Given the description of an element on the screen output the (x, y) to click on. 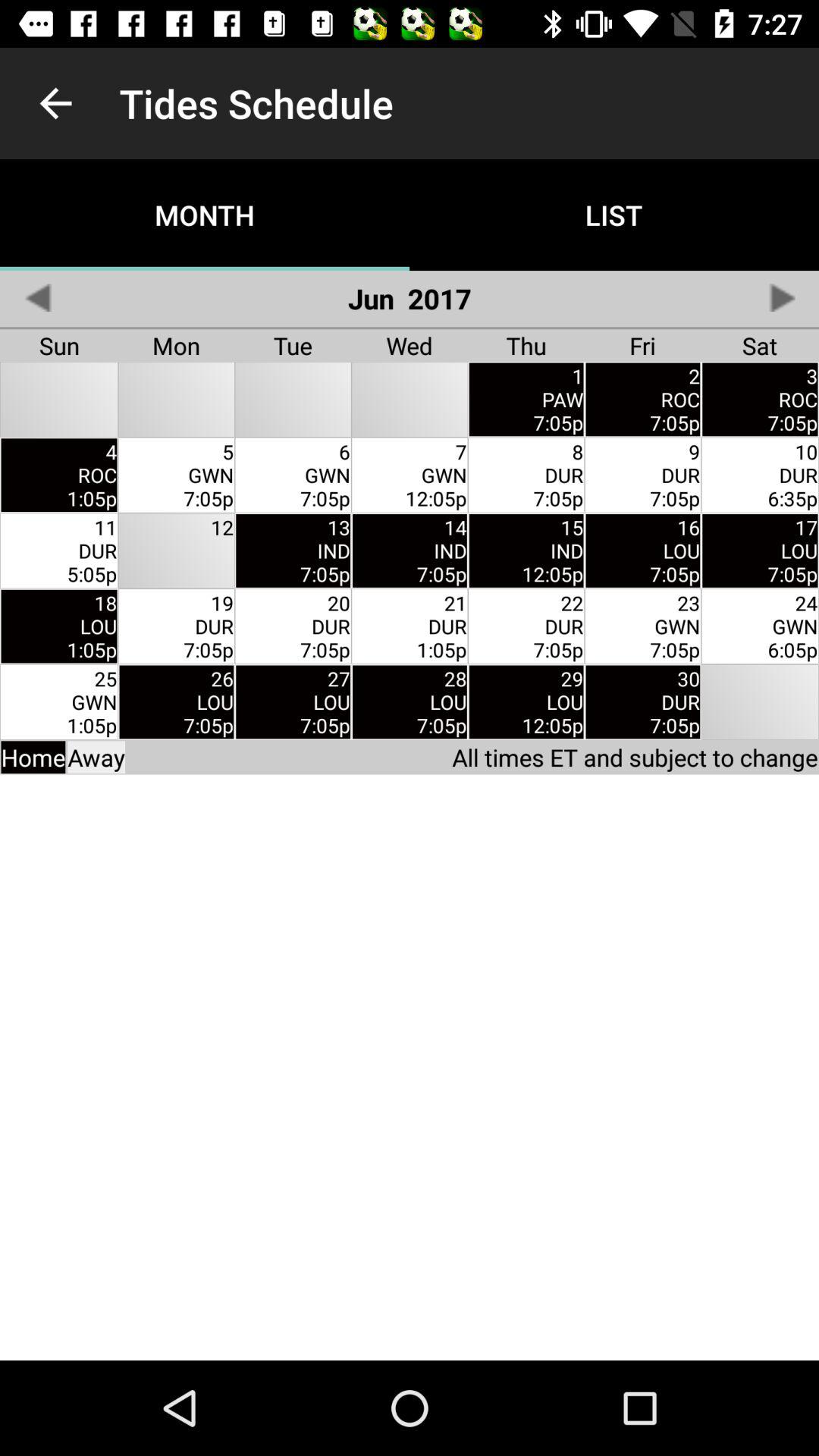
switch to next month (781, 297)
